Given the description of an element on the screen output the (x, y) to click on. 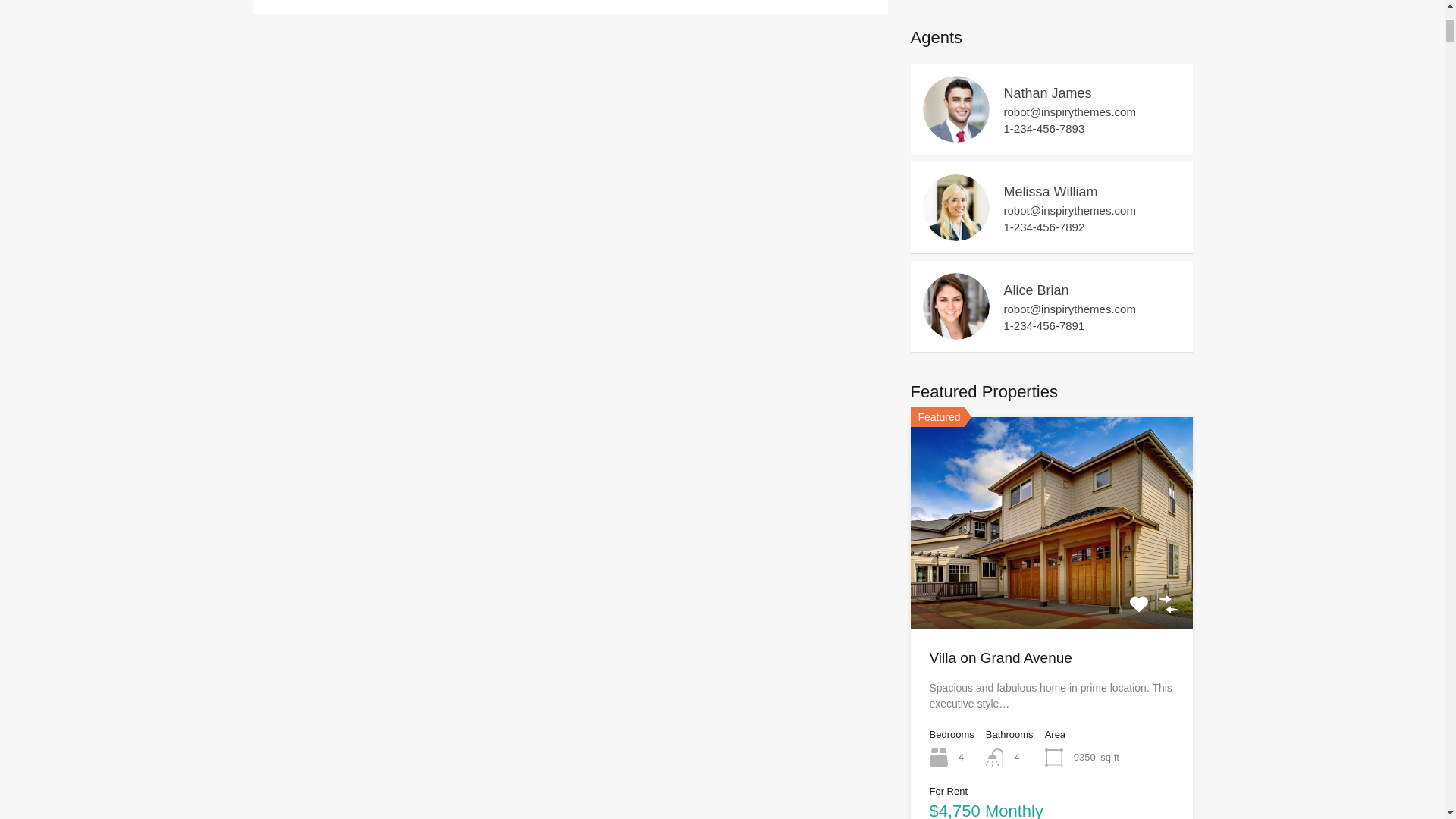
Alice Brian (954, 332)
Melissa William (954, 233)
Nathan James (954, 134)
